Given the description of an element on the screen output the (x, y) to click on. 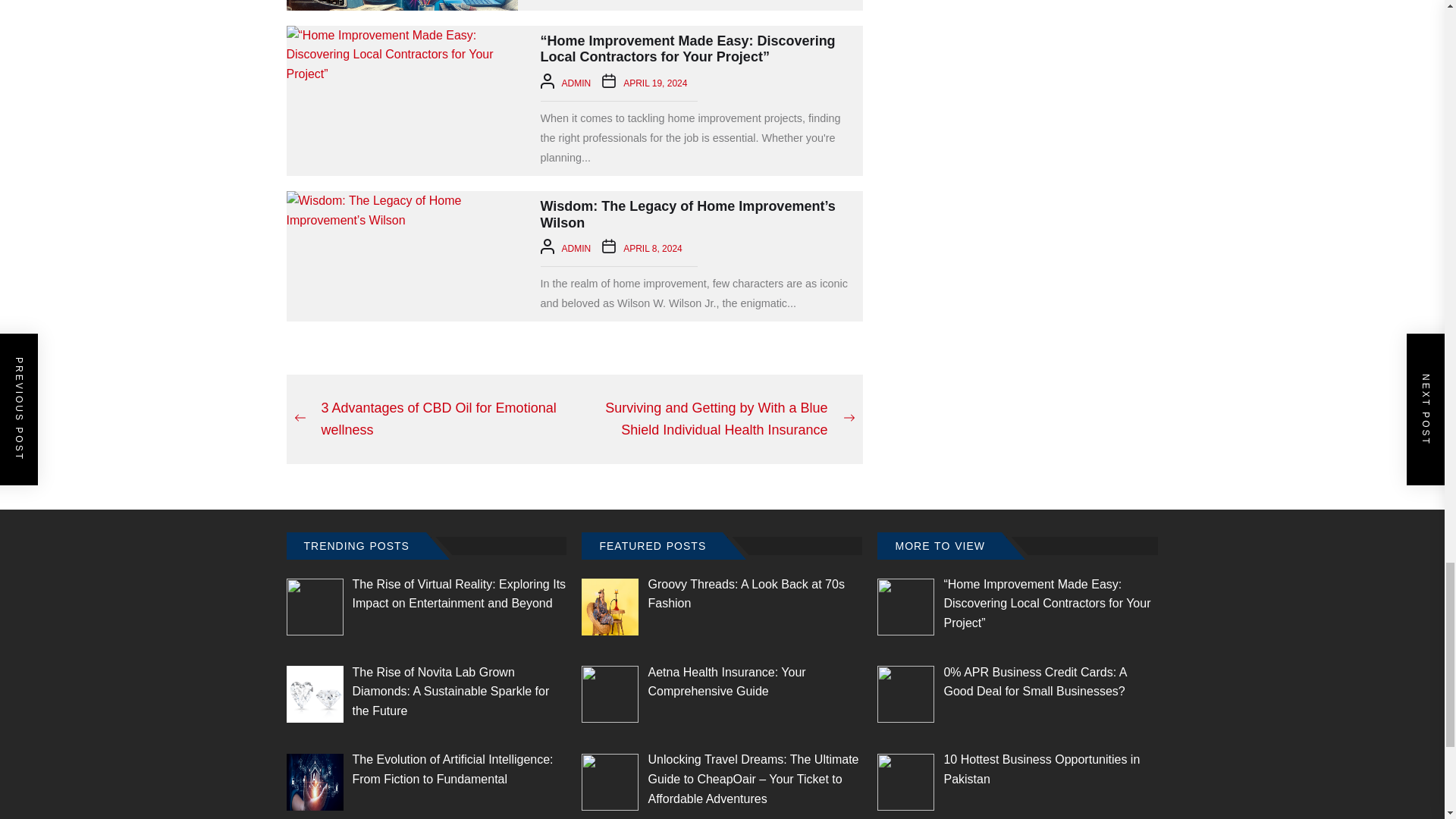
The Evolution of Media and Journalism in the Digital Age (402, 5)
